Given the description of an element on the screen output the (x, y) to click on. 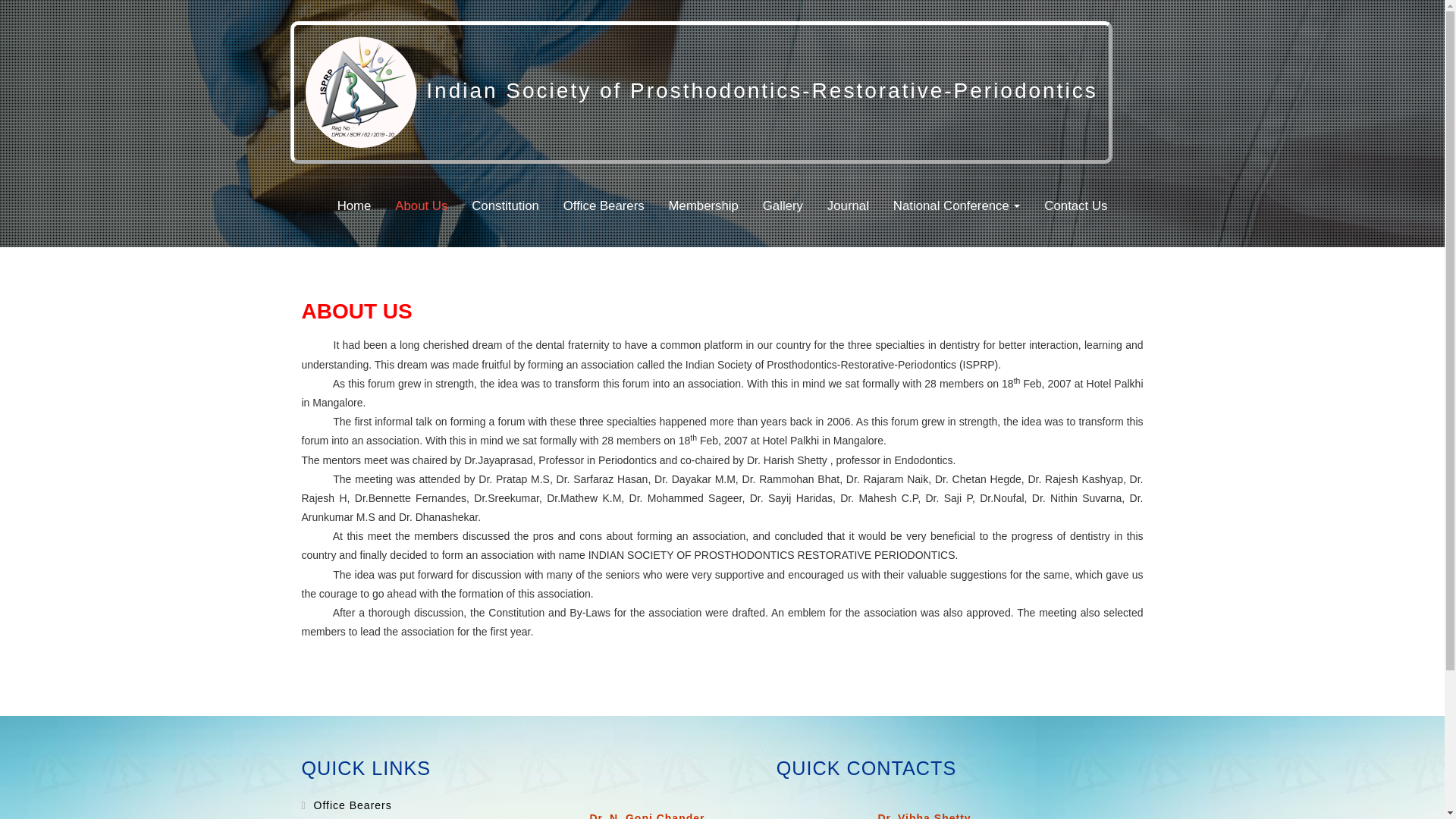
Gallery (782, 206)
About Us (420, 206)
Contact Us (1074, 206)
Indian Society of Prosthodontics-Restorative-Periodontics (700, 92)
National Conference (956, 206)
Constitution (504, 206)
Office Bearers (604, 206)
Home (354, 206)
Office Bearers (350, 805)
Journal (848, 206)
Membership (703, 206)
